Given the description of an element on the screen output the (x, y) to click on. 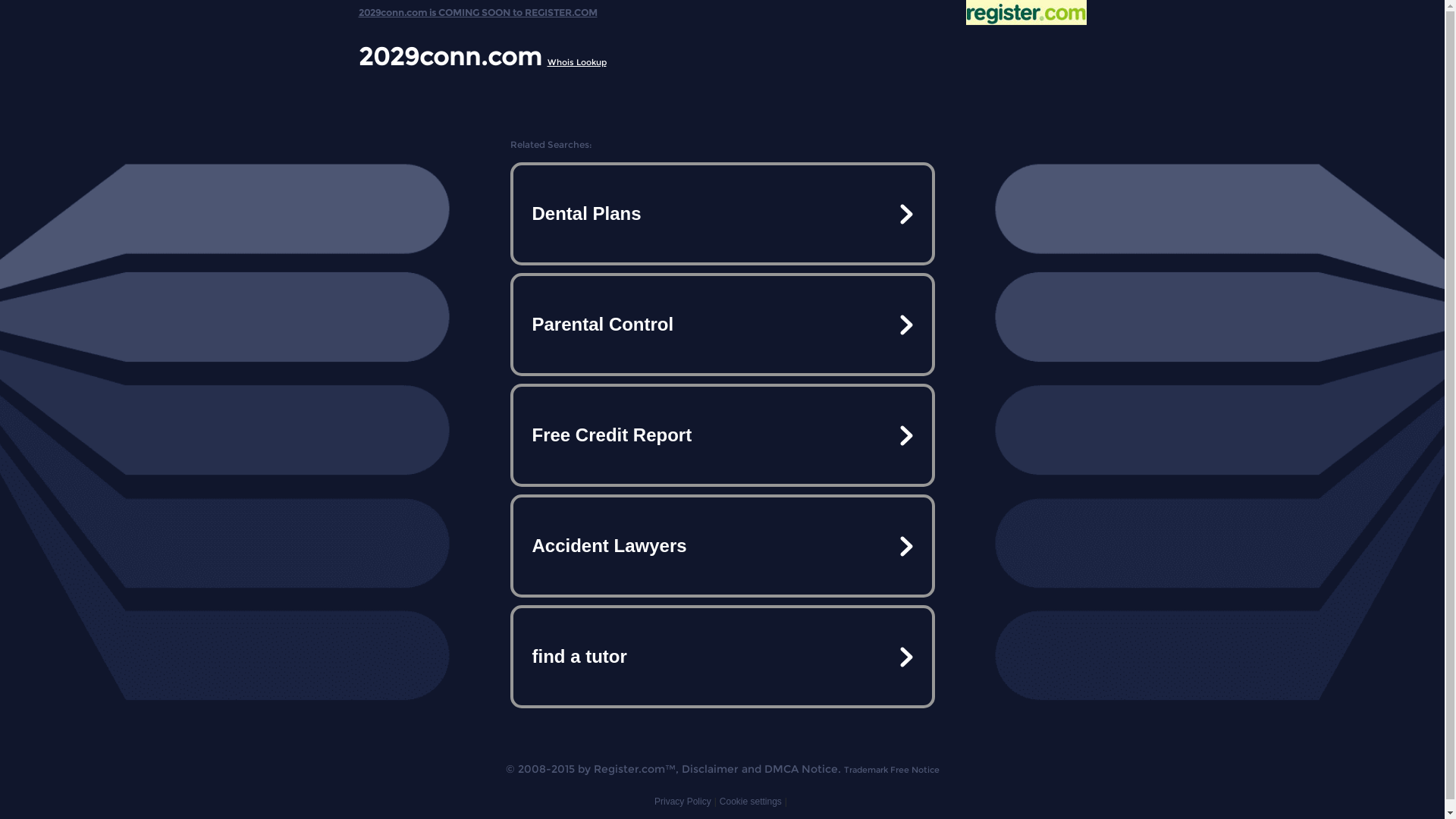
Parental Control Element type: text (721, 324)
Dental Plans Element type: text (721, 213)
2029conn.com Element type: text (448, 56)
Accident Lawyers Element type: text (721, 545)
2029conn.com is COMING SOON to REGISTER.COM Element type: text (476, 9)
Cookie settings Element type: text (750, 801)
Trademark Free Notice Element type: text (890, 769)
Privacy Policy Element type: text (682, 801)
Free Credit Report Element type: text (721, 434)
find a tutor Element type: text (721, 656)
Whois Lookup Element type: text (576, 61)
